Given the description of an element on the screen output the (x, y) to click on. 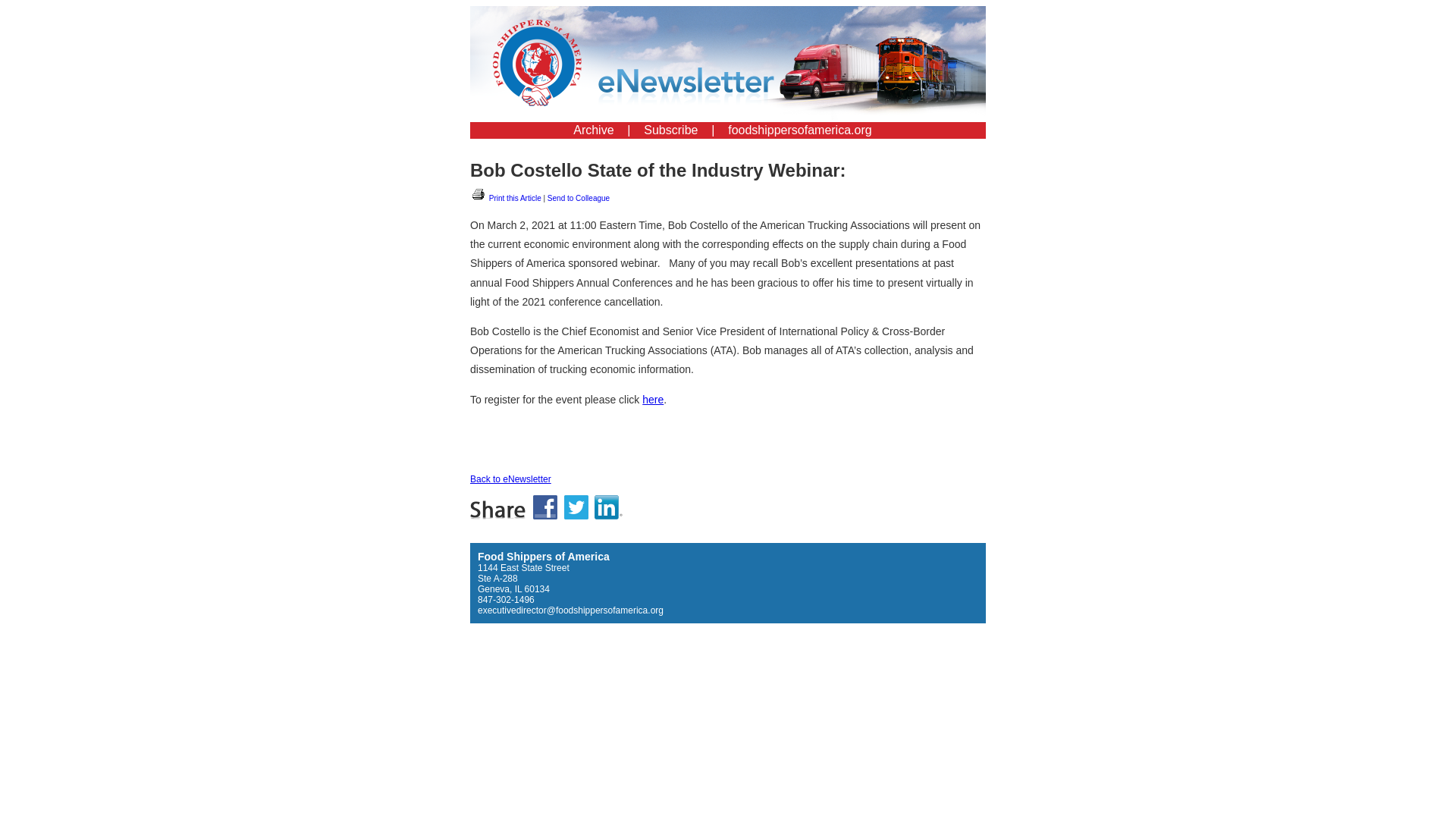
Archive (592, 129)
Back to eNewsletter (510, 479)
Subscribe (670, 129)
Subscribe (670, 129)
Send to Colleague (578, 198)
here (652, 399)
foodshippersofamerica.org (799, 129)
Archive (592, 129)
Print this Article (505, 198)
foodshippersofamerica.org (799, 129)
